Given the description of an element on the screen output the (x, y) to click on. 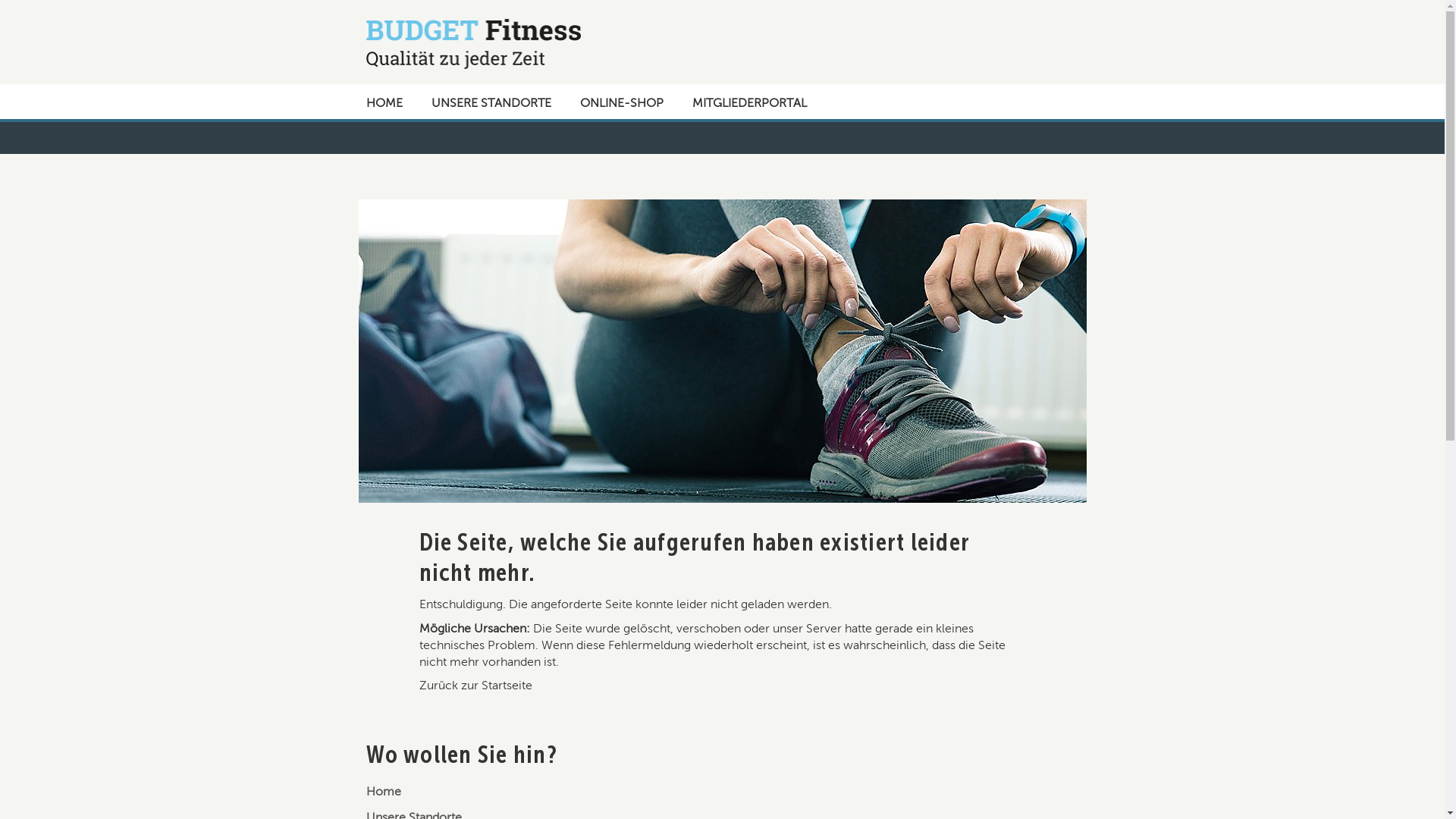
ONLINE-SHOP Element type: text (620, 101)
HOME Element type: text (382, 101)
Home Element type: text (382, 790)
MITGLIEDERPORTAL Element type: text (747, 101)
UNSERE STANDORTE Element type: text (489, 101)
